Given the description of an element on the screen output the (x, y) to click on. 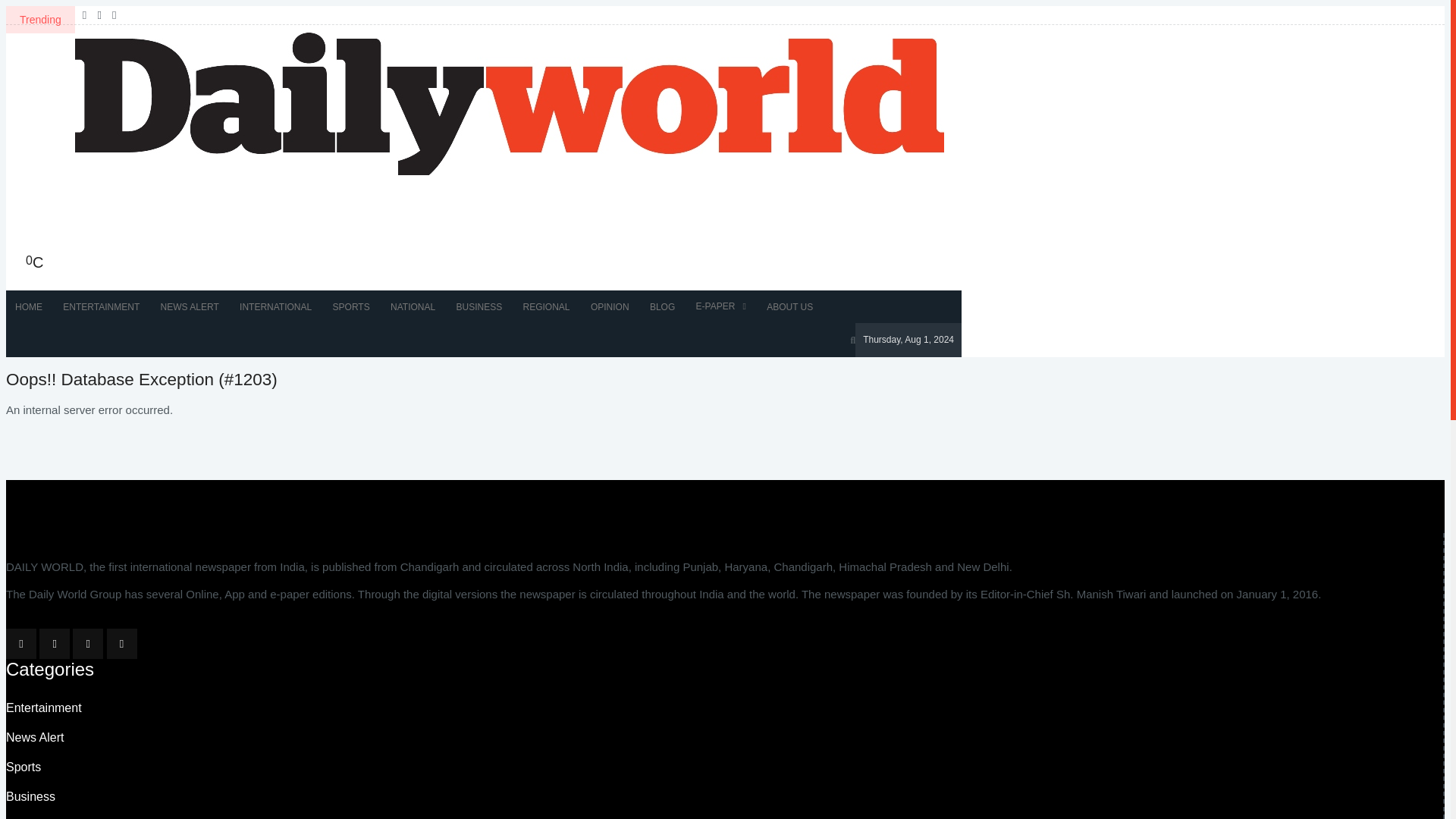
ABOUT US (789, 306)
REGIONAL (546, 306)
OPINION (609, 306)
INTERNATIONAL (275, 306)
NEWS ALERT (189, 306)
ENTERTAINMENT (100, 306)
BUSINESS (478, 306)
SPORTS (350, 306)
E-PAPER (721, 306)
HOME (27, 306)
BLOG (662, 306)
News Alert (34, 737)
Business (30, 796)
Sports (22, 766)
Entertainment (43, 707)
